Given the description of an element on the screen output the (x, y) to click on. 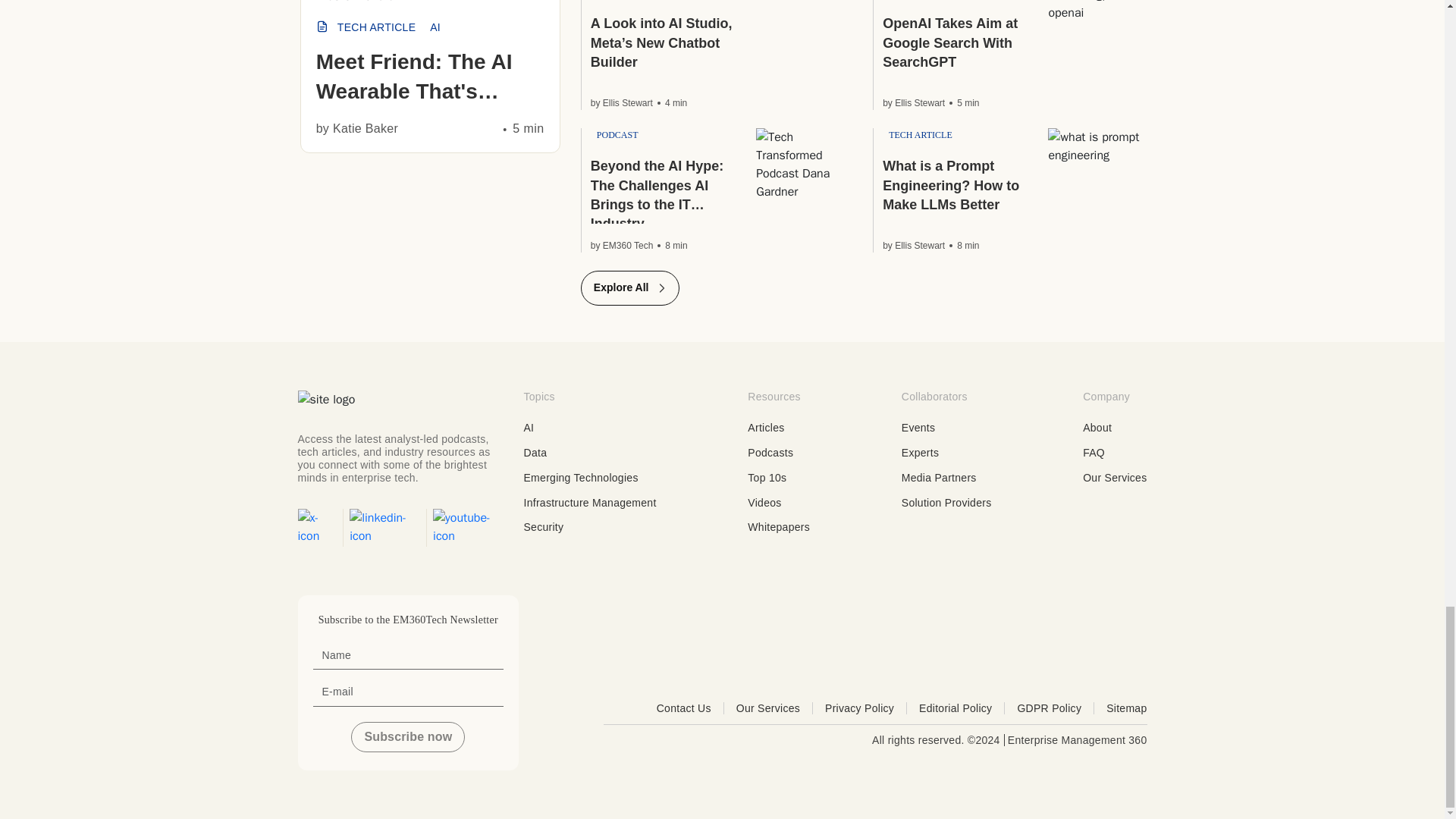
Privacy Policy (866, 707)
Sitemap (1126, 707)
GDPR Policy (1055, 707)
Subscribe now (407, 736)
